Given the description of an element on the screen output the (x, y) to click on. 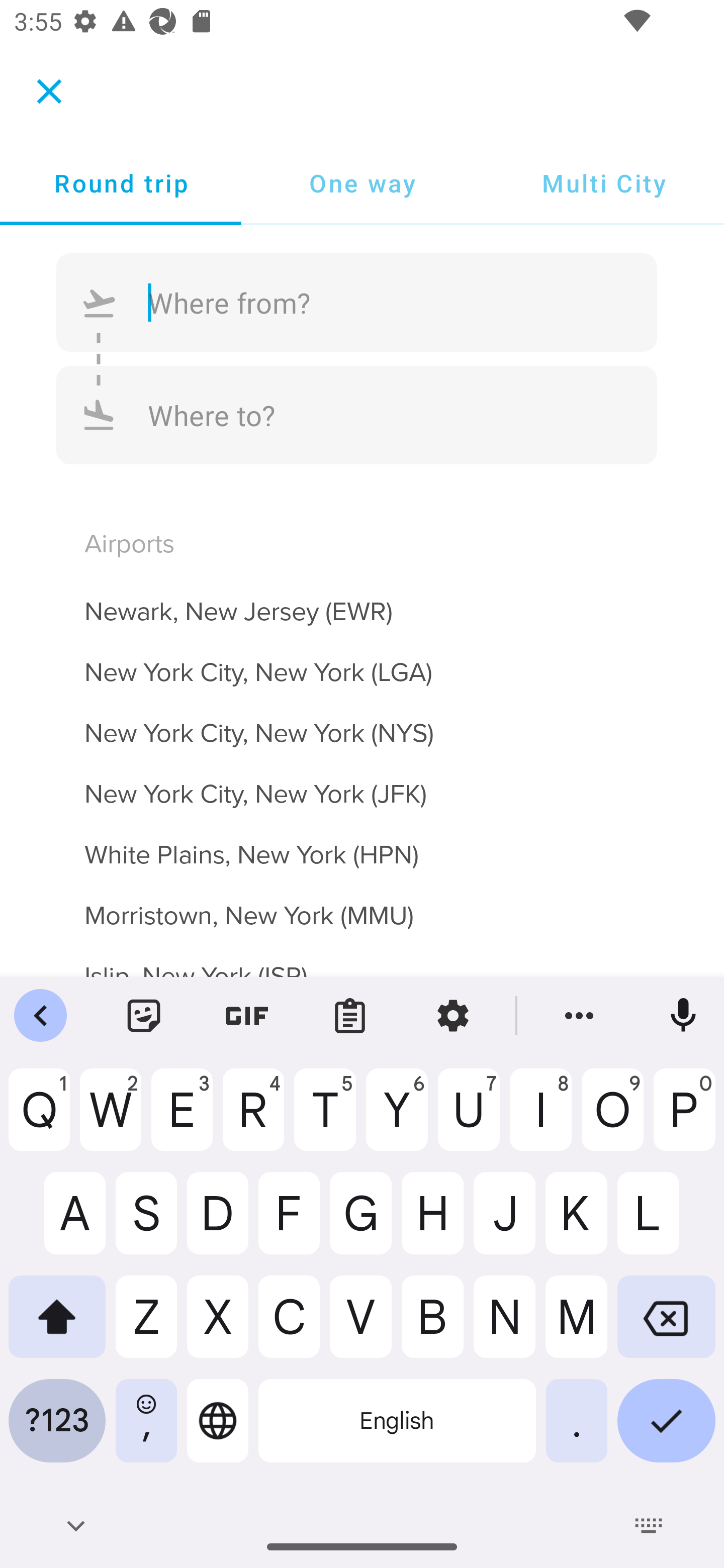
Cancel (49, 90)
One way (361, 183)
Multi City (603, 183)
Where from? (356, 302)
Where to? (356, 414)
Newark, New Jersey (EWR) (361, 599)
New York City, New York (LGA) (361, 660)
New York City, New York (NYS) (361, 721)
New York City, New York (JFK) (361, 782)
White Plains, New York (HPN) (361, 843)
Morristown, New York (MMU) (361, 903)
